Given the description of an element on the screen output the (x, y) to click on. 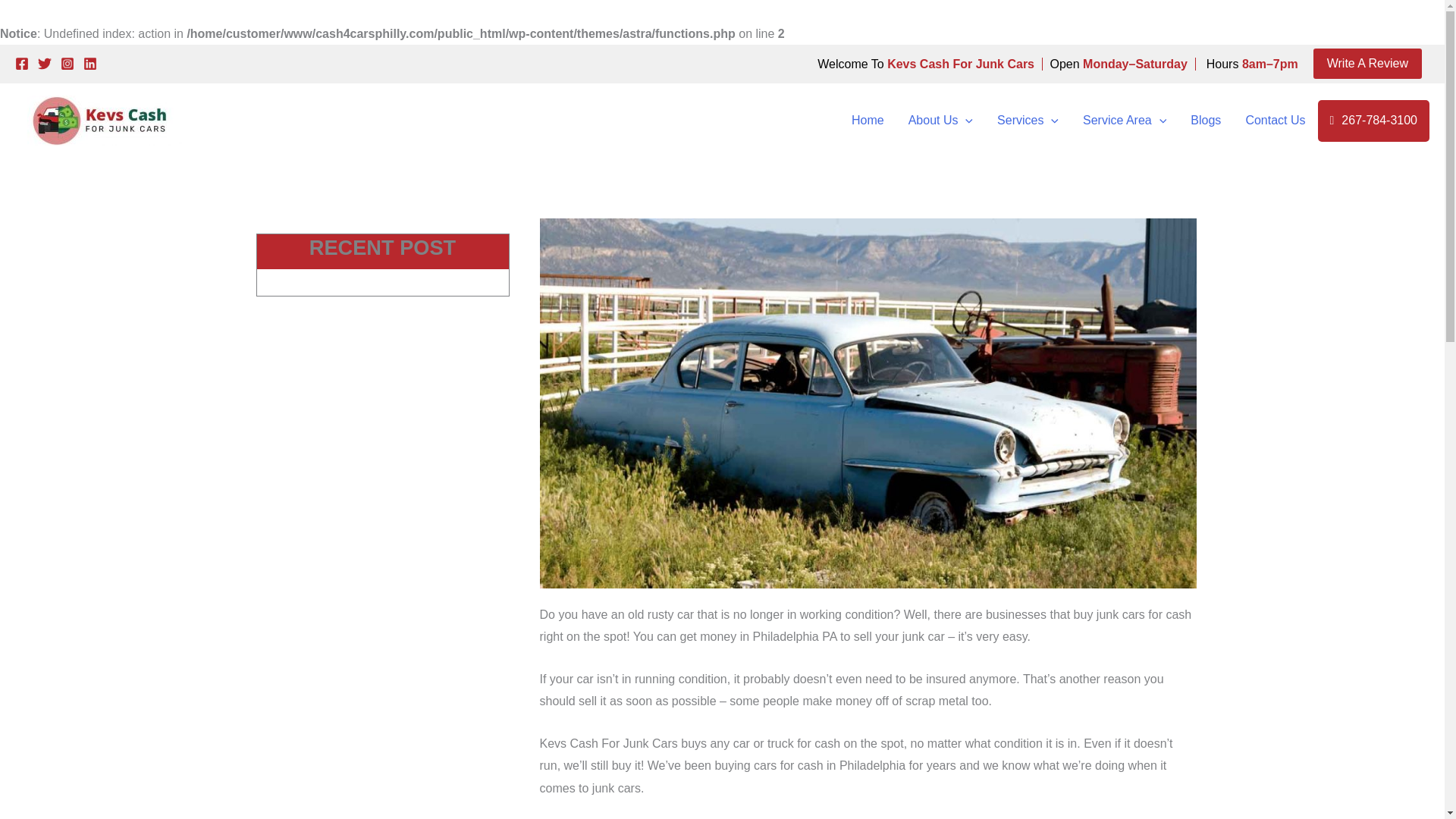
Services (1027, 119)
Contact Us (1275, 119)
Blogs (1205, 119)
Service Area (1123, 119)
About Us (940, 119)
Home (868, 119)
Write A Review (1367, 63)
267-784-3100 (1373, 119)
